Given the description of an element on the screen output the (x, y) to click on. 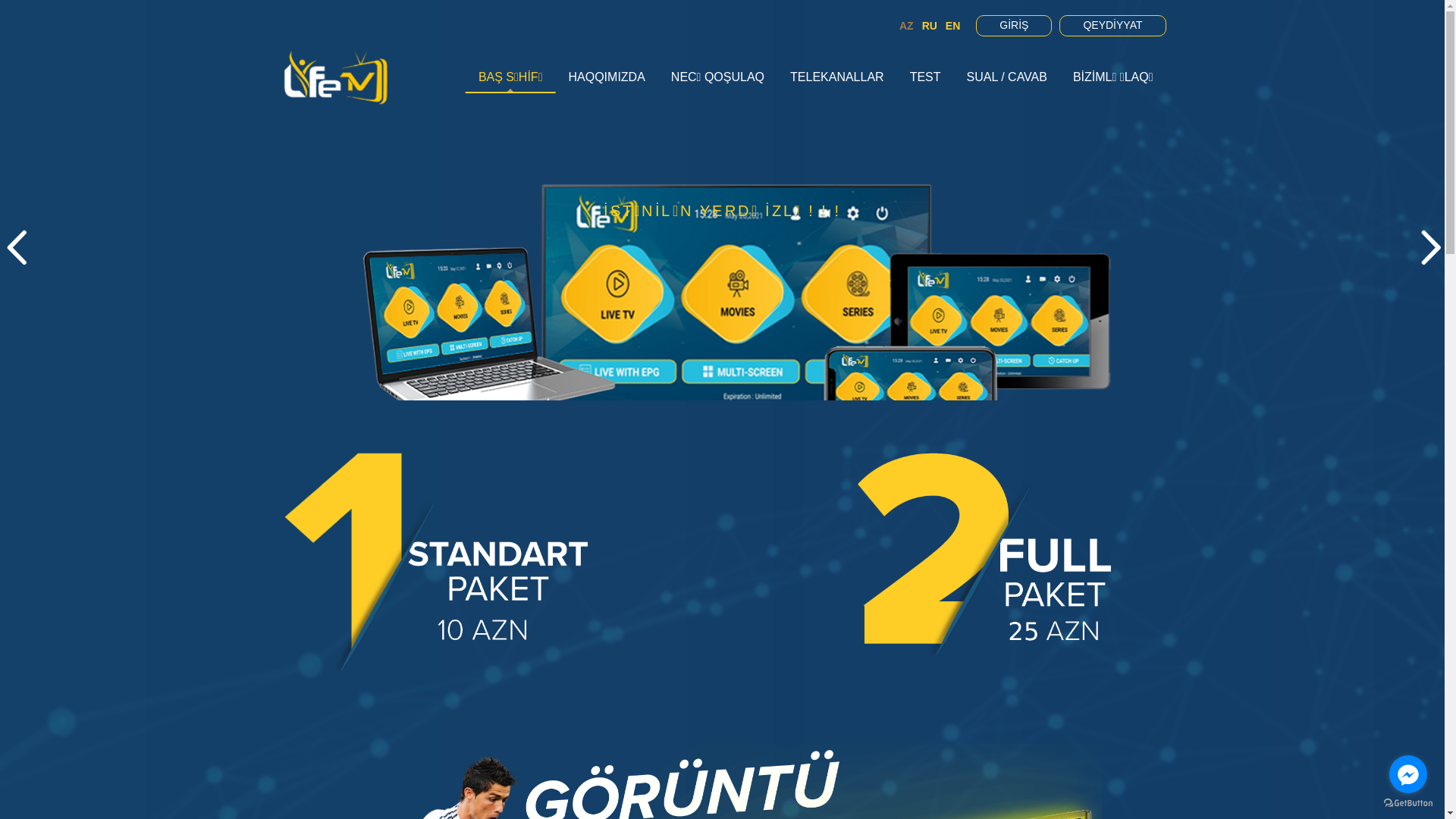
AZ Element type: text (906, 25)
HAQQIMIZDA Element type: text (606, 77)
TELEKANALLAR Element type: text (837, 77)
TEST Element type: text (925, 77)
RU Element type: text (929, 25)
EN Element type: text (952, 25)
SUAL / CAVAB Element type: text (1006, 77)
LIFETV Element type: hover (335, 76)
